Given the description of an element on the screen output the (x, y) to click on. 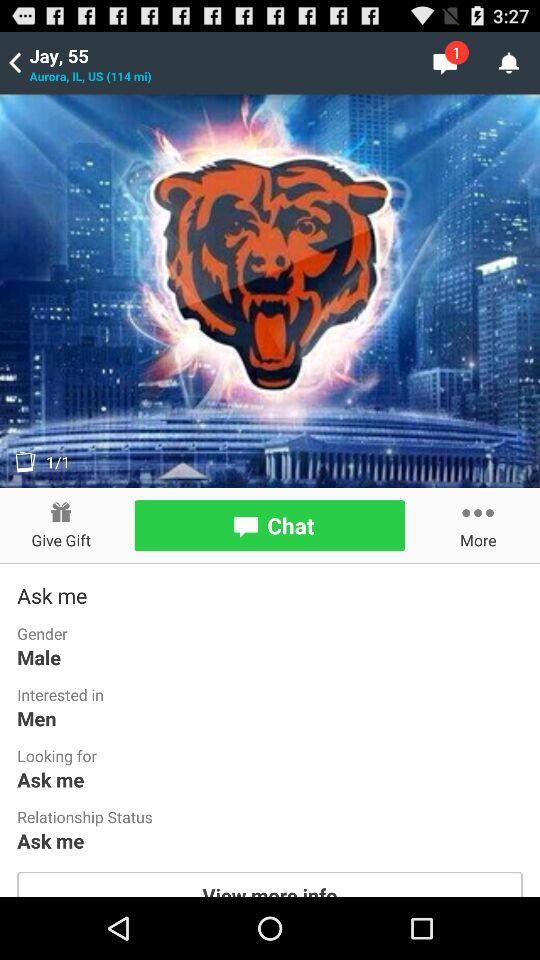
go to chat (269, 525)
